Given the description of an element on the screen output the (x, y) to click on. 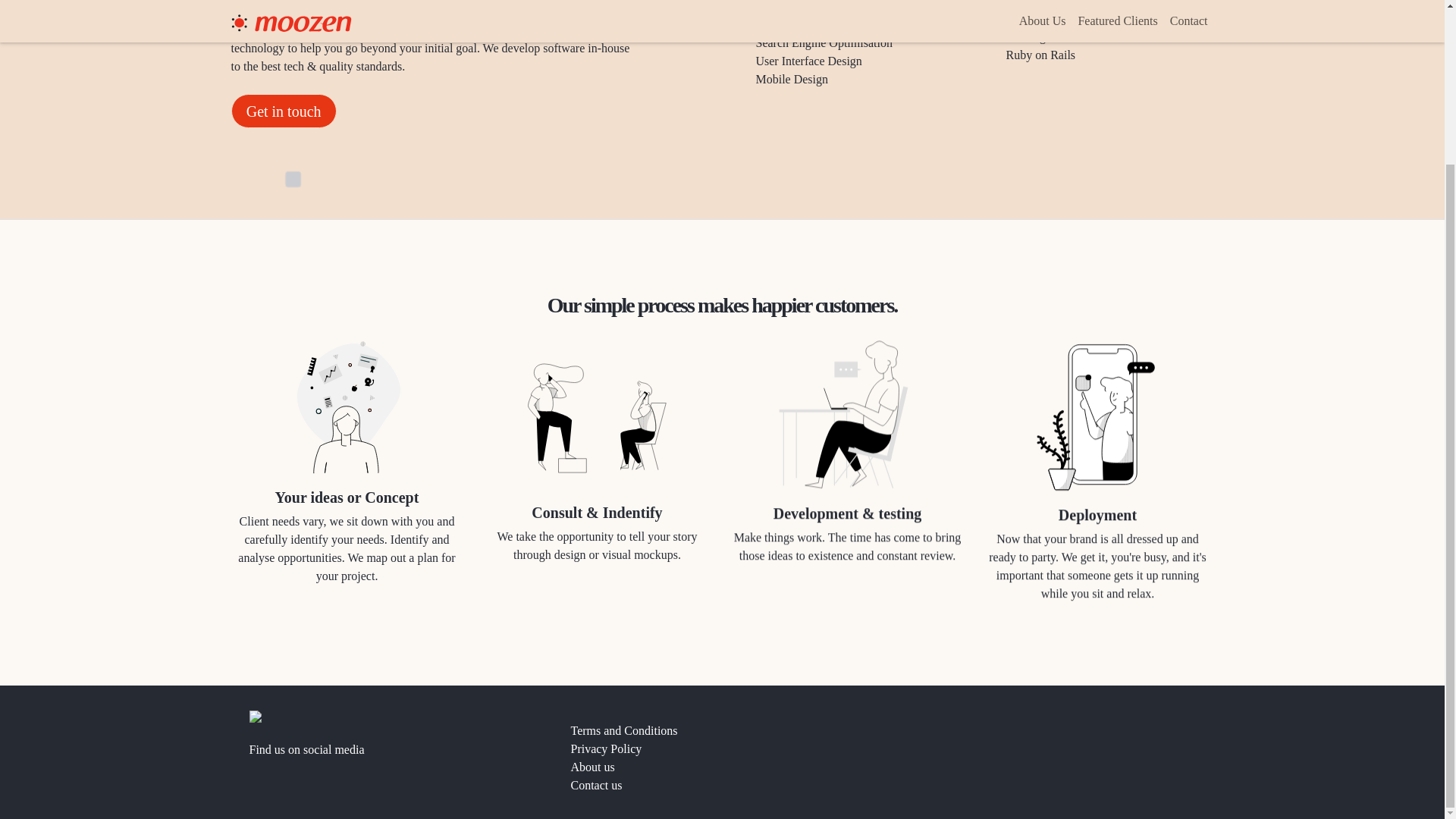
Terms and Conditions (721, 730)
Get in touch (283, 110)
About us (721, 767)
Privacy Policy (721, 749)
Contact us (721, 785)
